Given the description of an element on the screen output the (x, y) to click on. 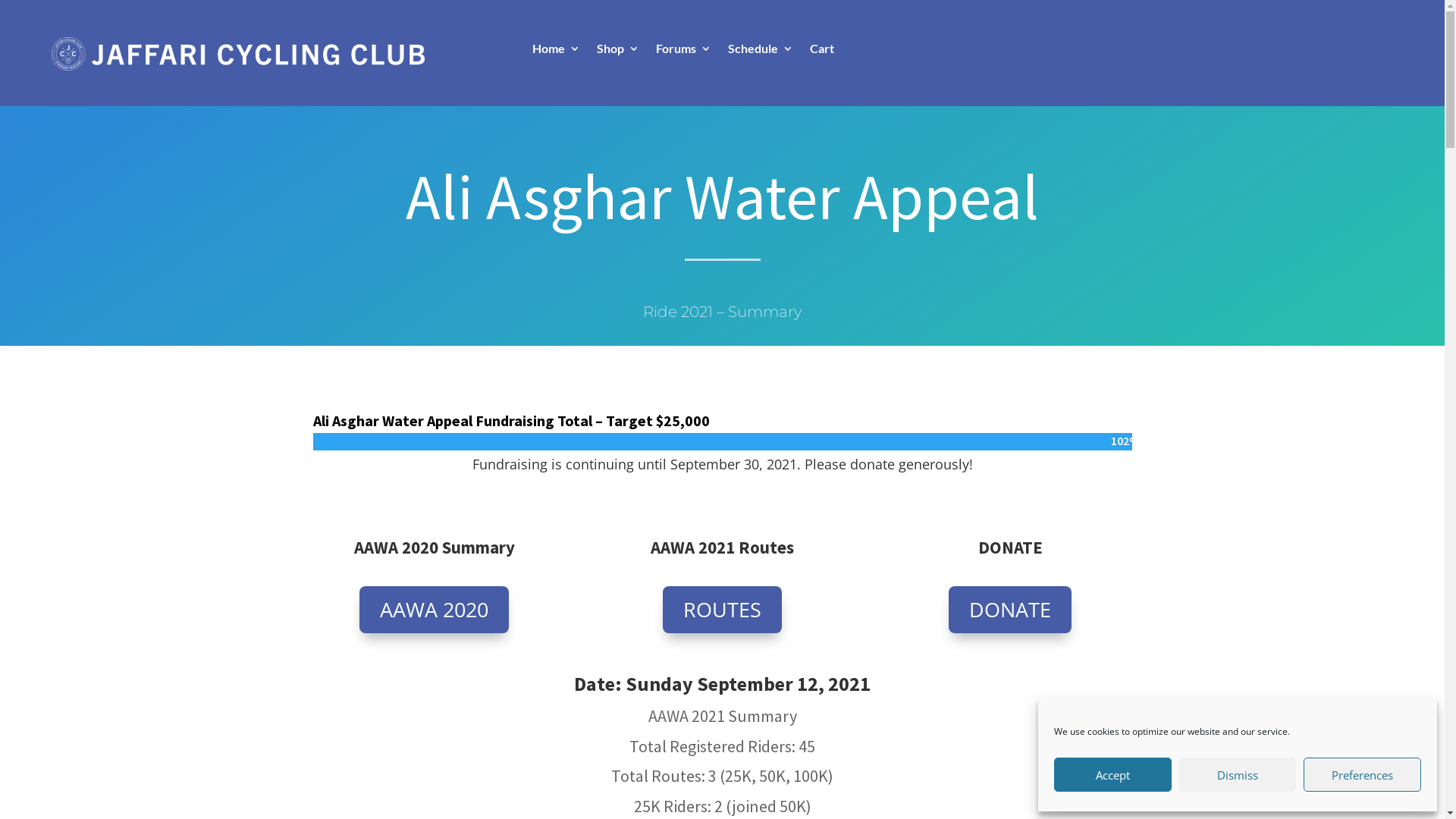
DONATE Element type: text (1009, 609)
Home Element type: text (556, 51)
Shop Element type: text (617, 51)
Accept Element type: text (1112, 774)
Cart Element type: text (821, 51)
JCC Emblem with Text Element type: hover (237, 53)
Preferences Element type: text (1362, 774)
Dismiss Element type: text (1237, 774)
AAWA 2020 Element type: text (433, 609)
Forums Element type: text (683, 51)
Schedule Element type: text (760, 51)
ROUTES Element type: text (721, 609)
